Given the description of an element on the screen output the (x, y) to click on. 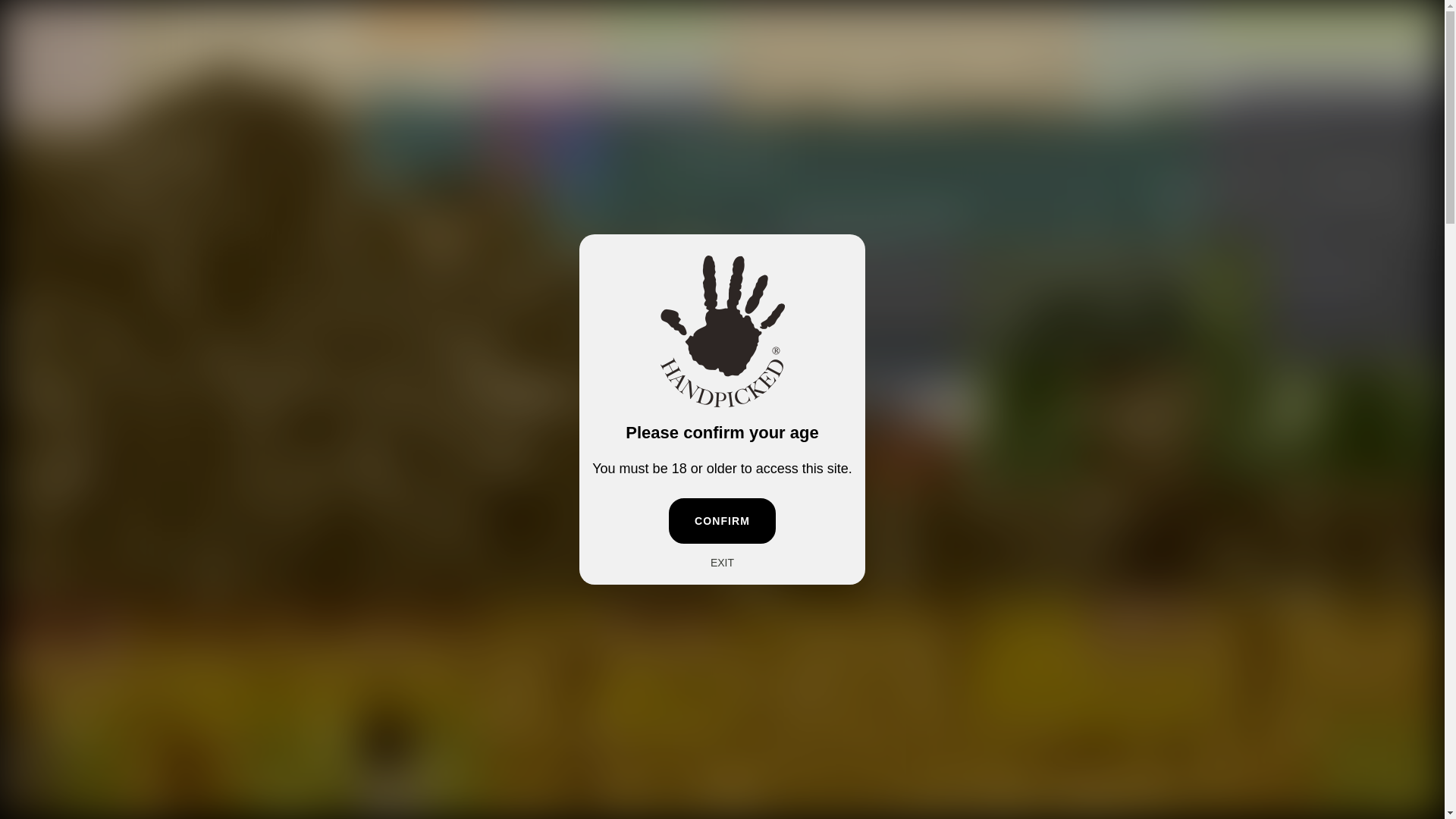
Facebook (36, 15)
CONFIRM (722, 520)
Shop (120, 63)
Handpicked Wines (722, 63)
Facebook (36, 15)
EXIT (721, 562)
Instagram (56, 15)
About (60, 63)
Instagram (56, 15)
